Given the description of an element on the screen output the (x, y) to click on. 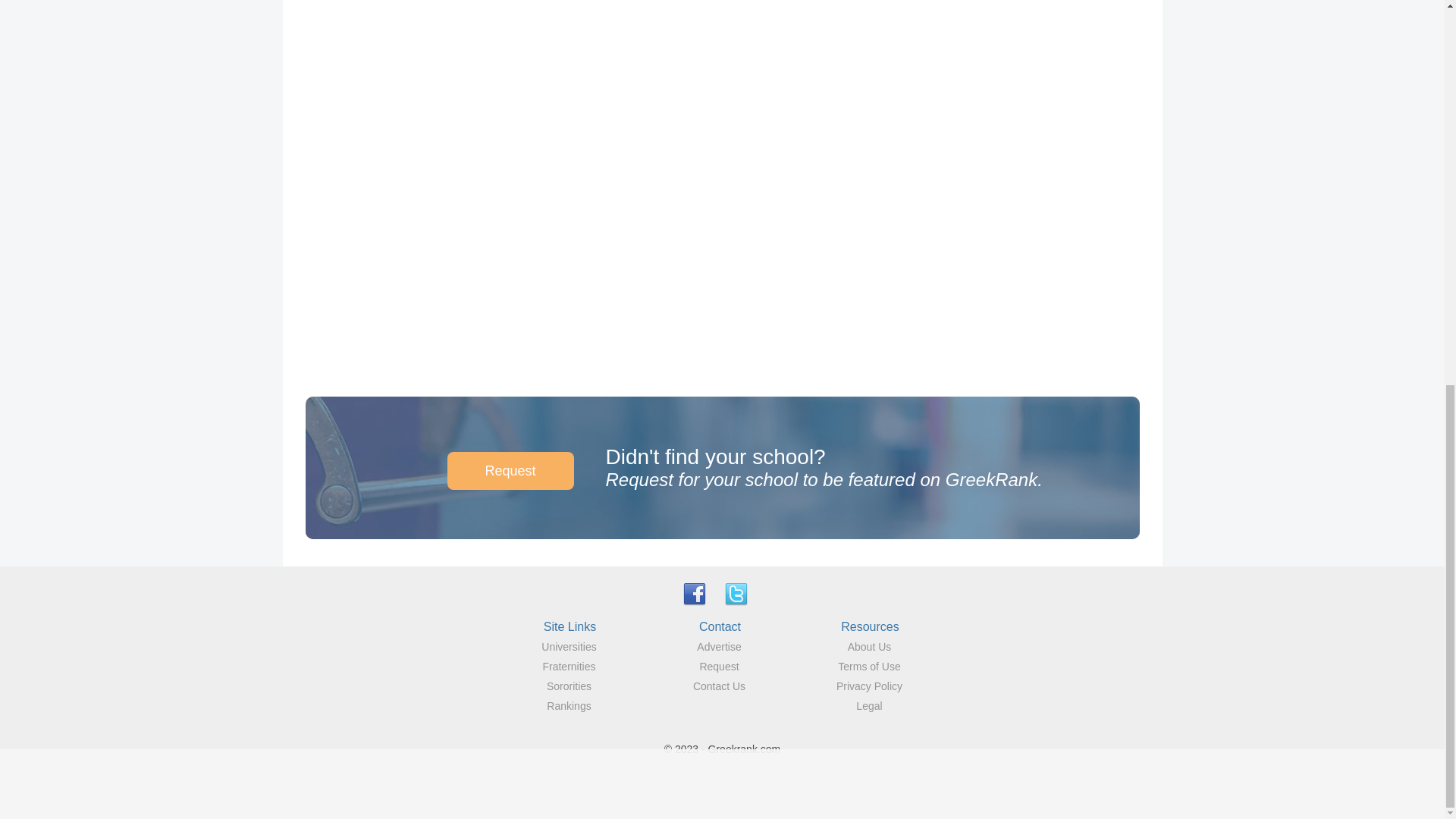
Sororities (569, 686)
Rankings (569, 705)
Follow GreekRank Facebook (694, 593)
Fraternities (568, 666)
Universities (568, 646)
Follow GreekRank Twitter (735, 593)
Request (718, 666)
About Us (869, 646)
Request (509, 470)
Contact Us (719, 686)
Advertise (719, 646)
